Given the description of an element on the screen output the (x, y) to click on. 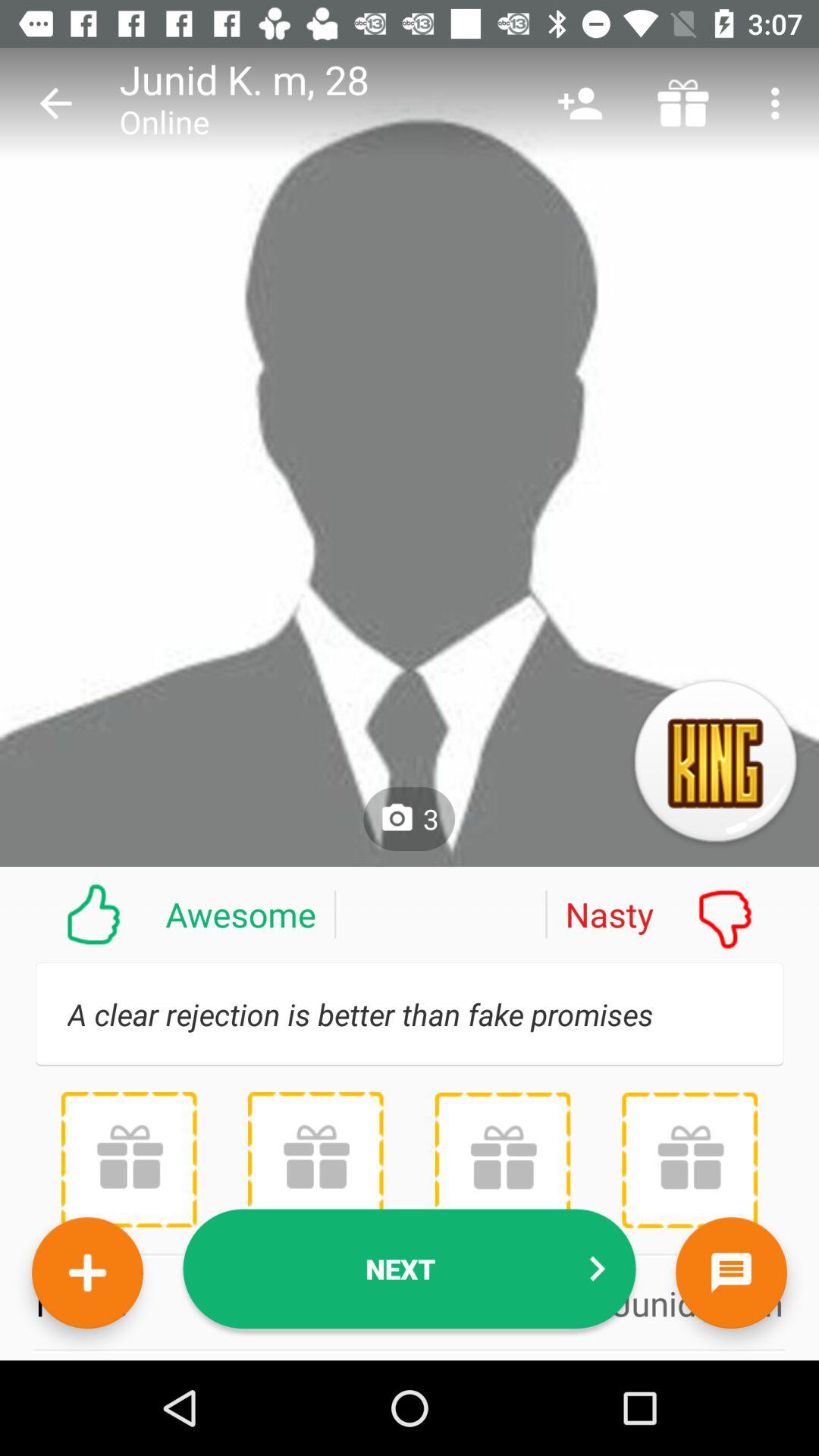
to the gift cart (128, 1159)
